Given the description of an element on the screen output the (x, y) to click on. 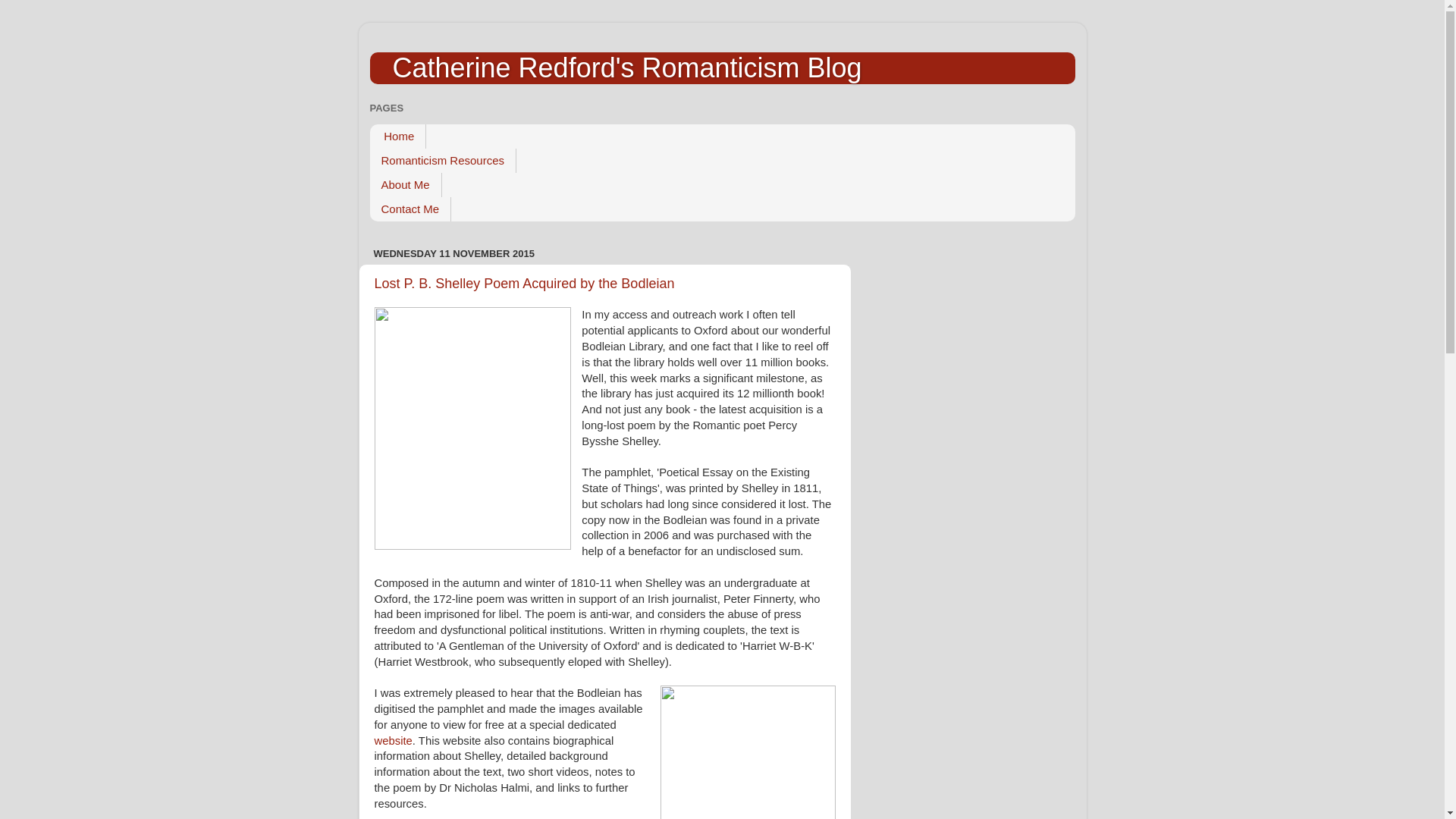
Contact Me (410, 209)
Romanticism Resources (442, 160)
About Me (405, 184)
Catherine Redford's Romanticism Blog (627, 67)
website (393, 740)
Home (397, 136)
Lost P. B. Shelley Poem Acquired by the Bodleian (524, 283)
